Given the description of an element on the screen output the (x, y) to click on. 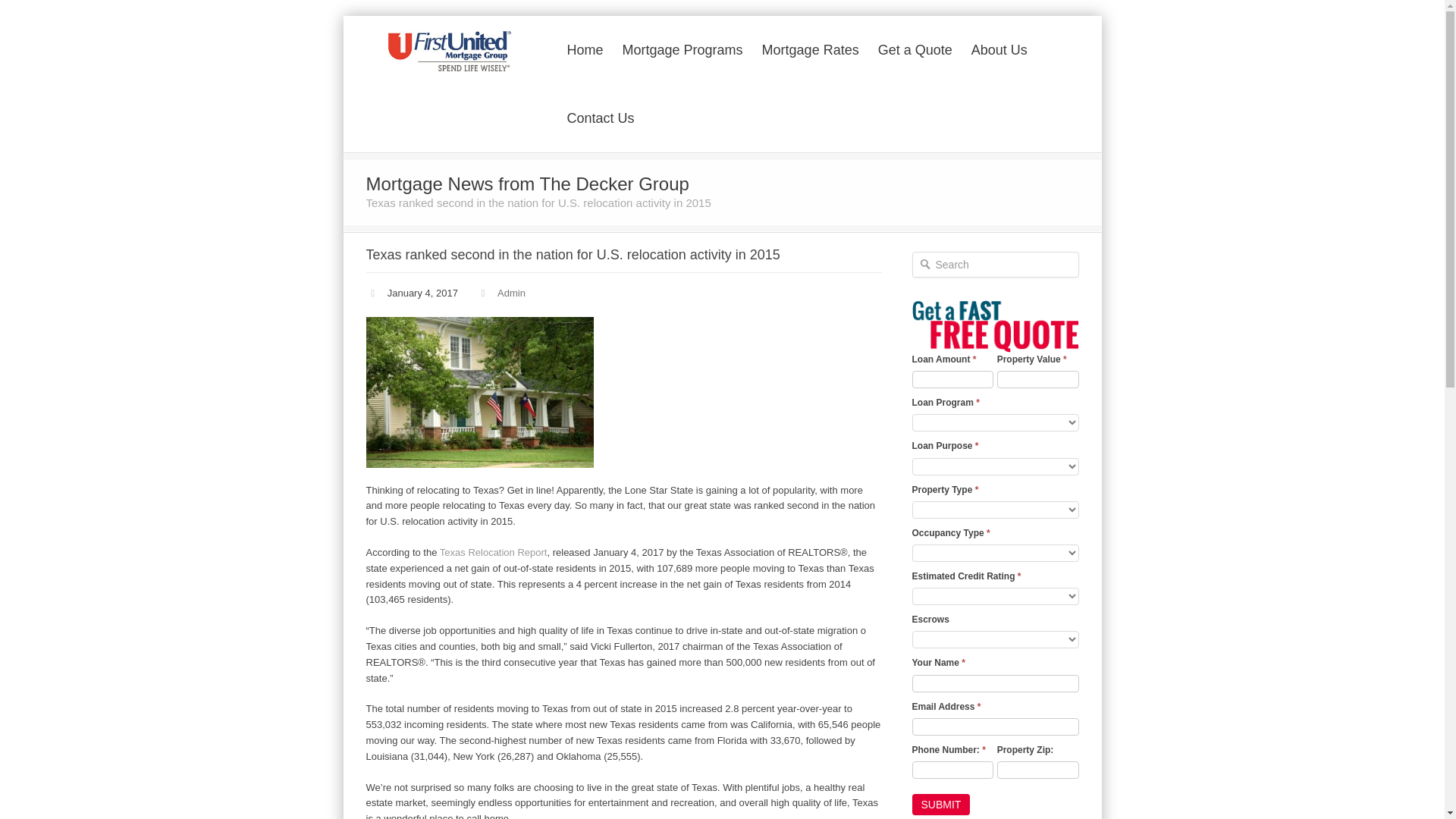
Texas Relocation Report (493, 552)
Search (994, 264)
Get a Quote (914, 48)
Mortgage Rates (810, 48)
Admin (511, 292)
Submit (940, 803)
Contact Us (600, 116)
Mortgage Programs (682, 48)
